Given the description of an element on the screen output the (x, y) to click on. 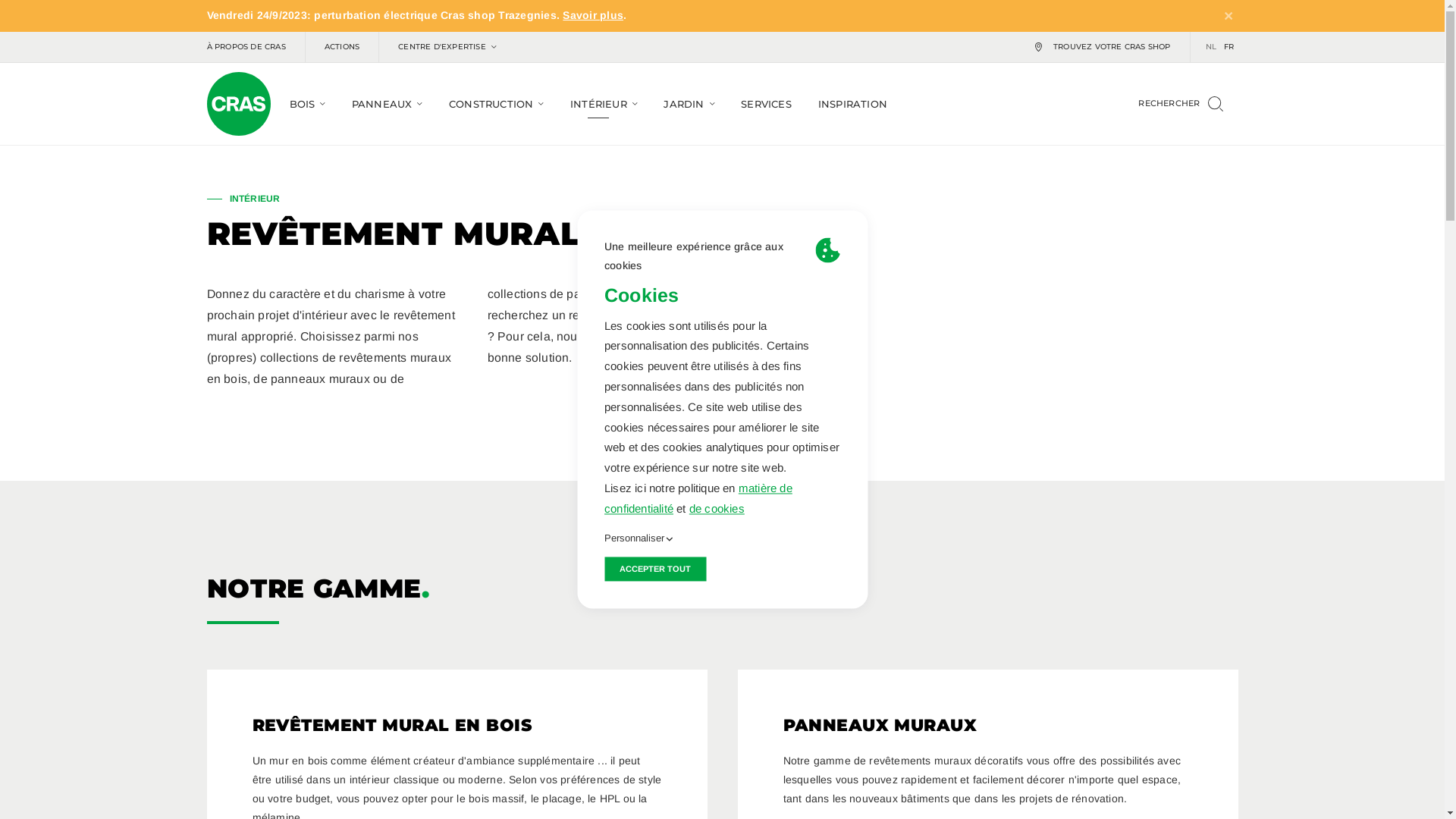
RECHERCHER Element type: text (1180, 103)
SERVICES Element type: text (765, 103)
CONSTRUCTION Element type: text (490, 103)
NL Element type: text (1210, 46)
Savoir plus Element type: text (592, 15)
BOIS Element type: text (302, 103)
FR Element type: text (1228, 46)
JARDIN Element type: text (683, 103)
PANNEAUX Element type: text (381, 103)
ACTIONS Element type: text (341, 46)
TROUVEZ VOTRE CRAS SHOP Element type: text (1102, 46)
INSPIRATION Element type: text (852, 103)
CENTRE D'EXPERTISE Element type: text (447, 46)
